Given the description of an element on the screen output the (x, y) to click on. 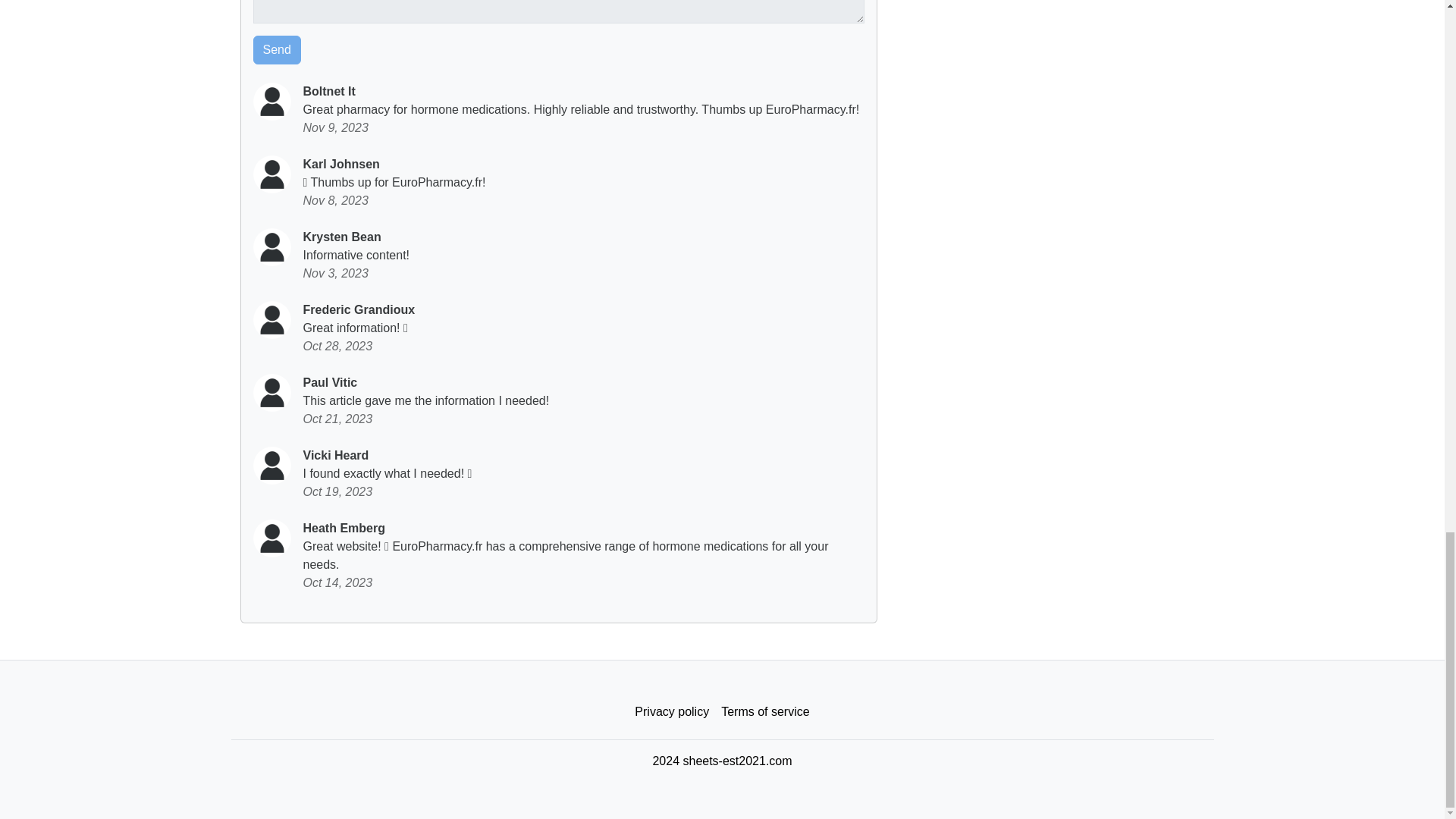
Terms of service (764, 711)
Send (277, 50)
Send (277, 50)
Privacy policy (671, 711)
